Given the description of an element on the screen output the (x, y) to click on. 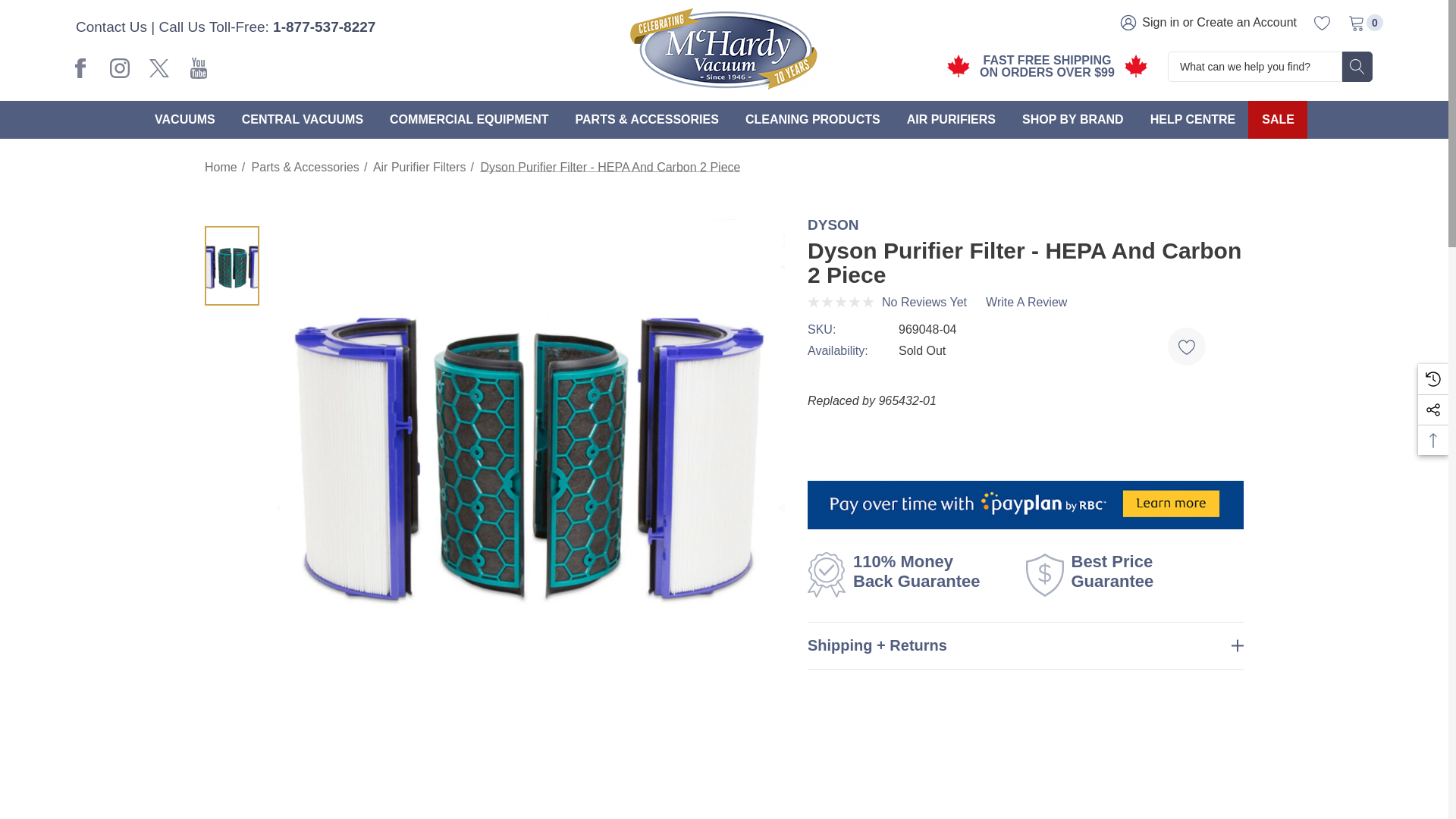
WISH LISTS WISH LISTS (1322, 22)
instagram (119, 68)
twitter (159, 68)
Sign in or Create an Account (1355, 22)
YOUR CART YOUR CART (1206, 22)
youtube (1356, 22)
McHardy Vacuum (198, 68)
WISH LISTS WISH LISTS (723, 48)
Contact Us (1321, 22)
facebook (111, 26)
Old style filter has been replaced.  (80, 68)
